Given the description of an element on the screen output the (x, y) to click on. 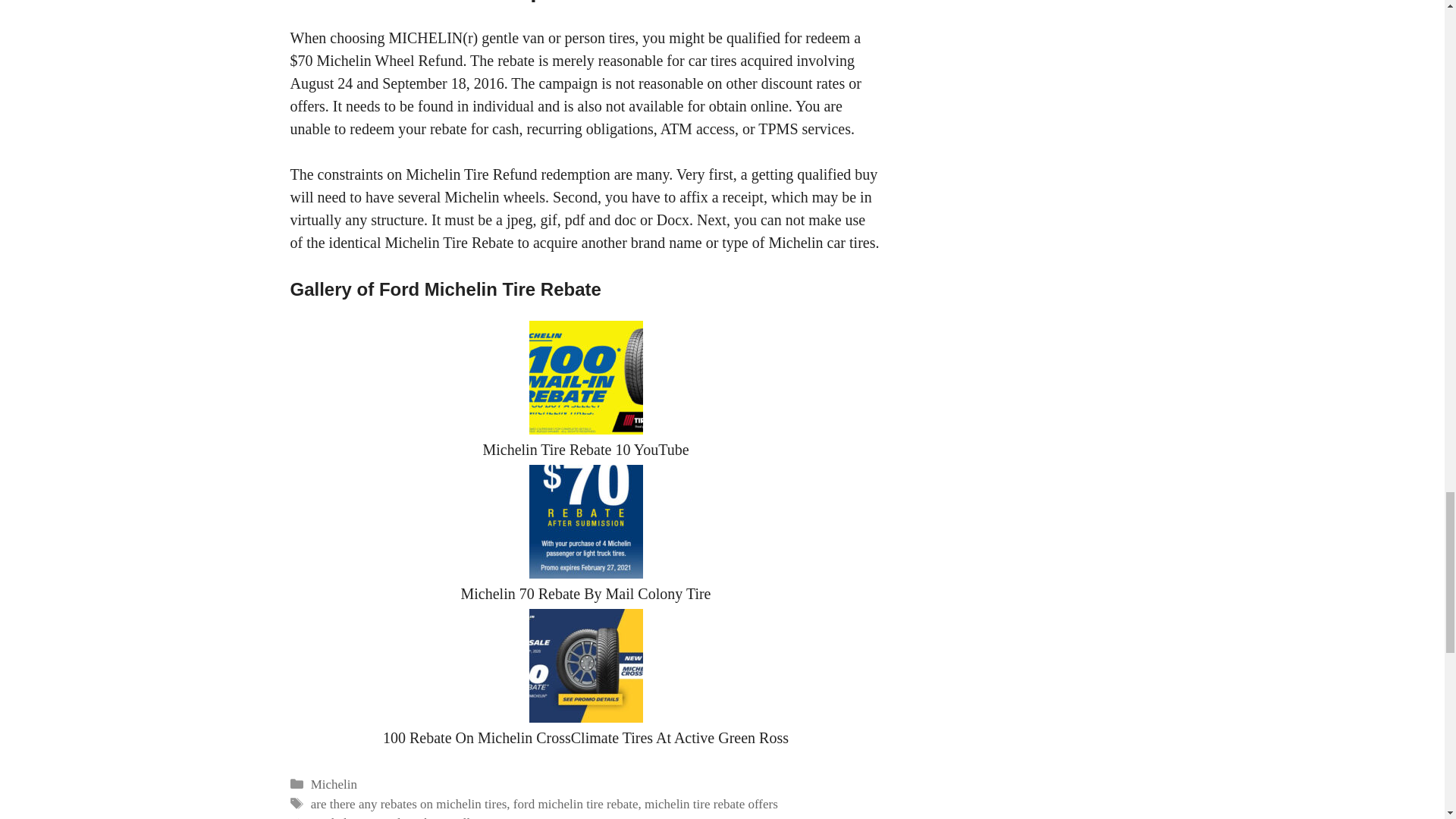
michelin tire rebate offers (711, 803)
ford michelin tire rebate (576, 803)
are there any rebates on michelin tires (408, 803)
Previous (393, 817)
Michelin Tire Sale Rebate Belle (393, 817)
Michelin (333, 784)
